Given the description of an element on the screen output the (x, y) to click on. 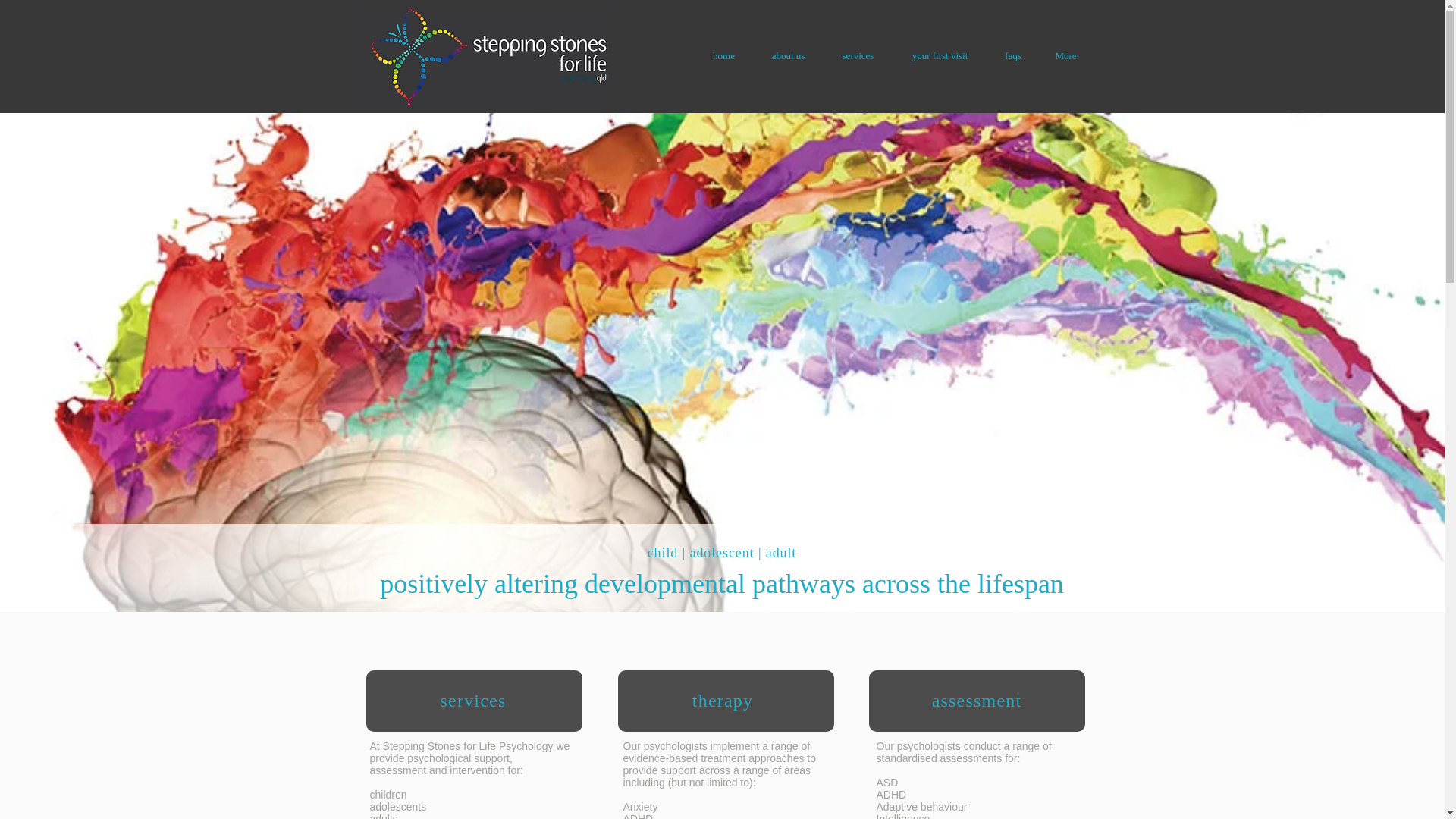
your first visit (939, 55)
about us (788, 55)
home (723, 55)
faqs (1012, 55)
services (857, 55)
